Given the description of an element on the screen output the (x, y) to click on. 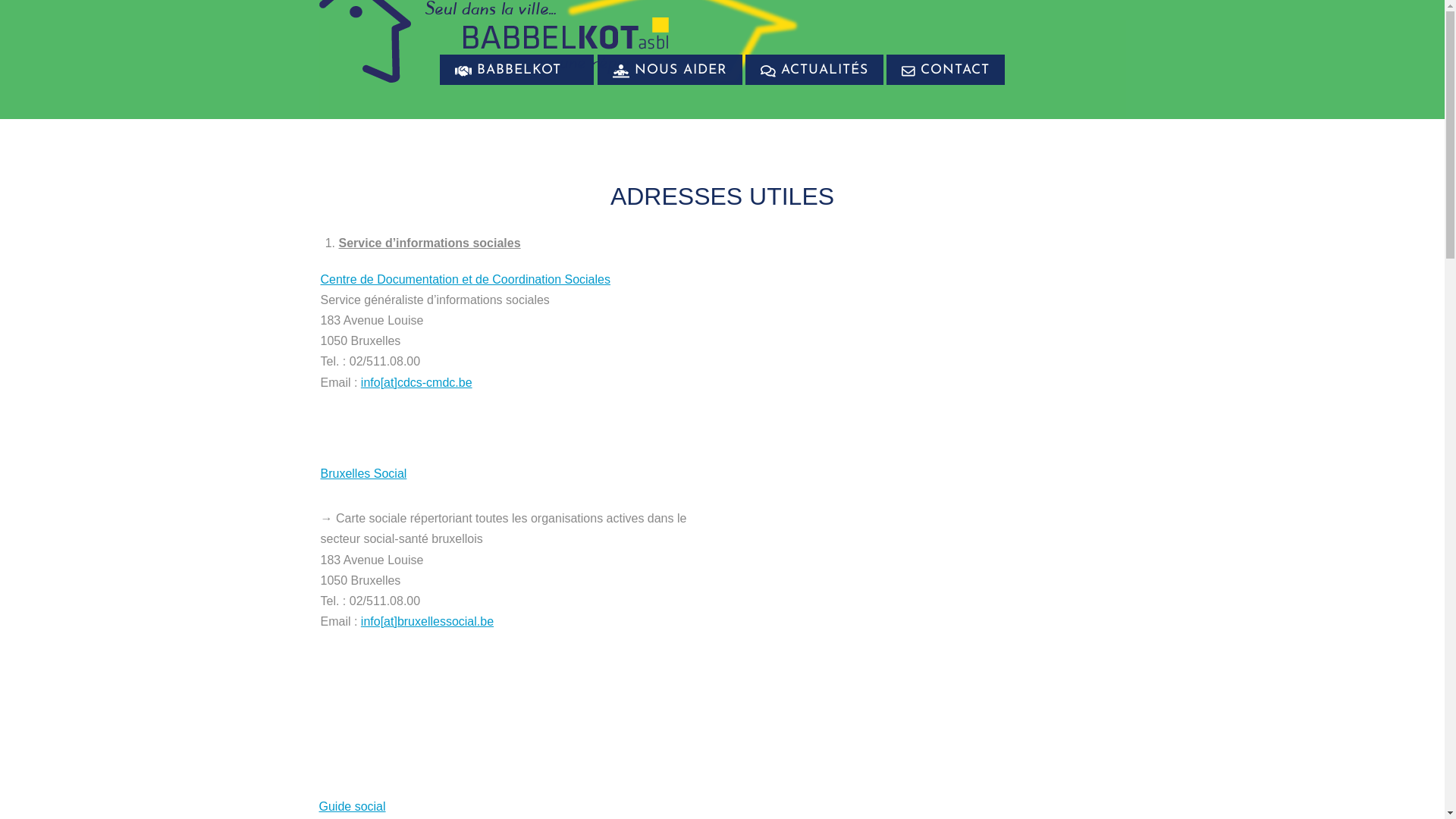
Bruxelles Social Element type: text (363, 473)
info[at]bruxellessocial.be Element type: text (426, 621)
Centre de Documentation et de Coordination Sociales Element type: text (464, 279)
Guide social Element type: text (351, 806)
info[at]cdcs-cmdc.be Element type: text (416, 382)
Le Babbelkot Element type: hover (571, 99)
BABBELKOT Element type: text (516, 69)
NOUS AIDER Element type: text (669, 69)
CONTACT Element type: text (945, 69)
